Given the description of an element on the screen output the (x, y) to click on. 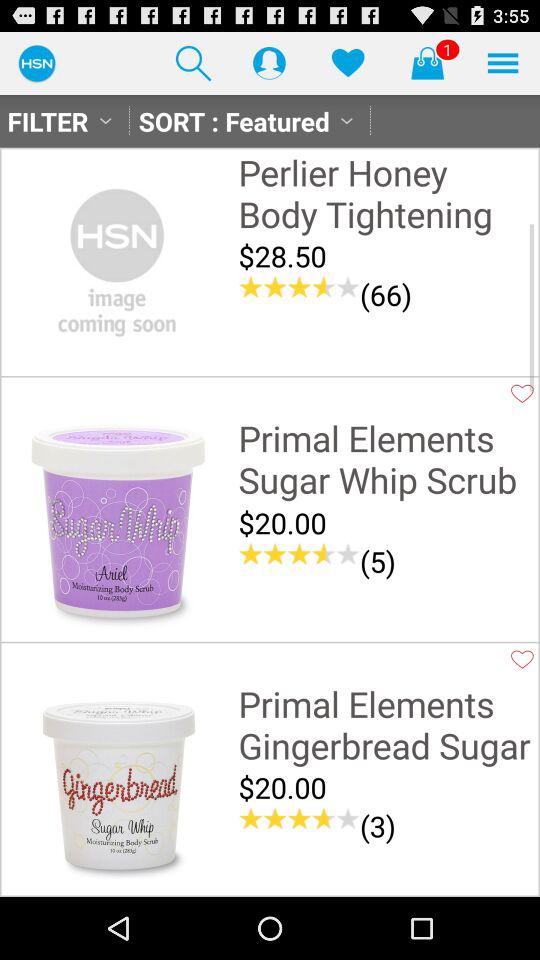
tap the item above sort : featured icon (193, 62)
